Given the description of an element on the screen output the (x, y) to click on. 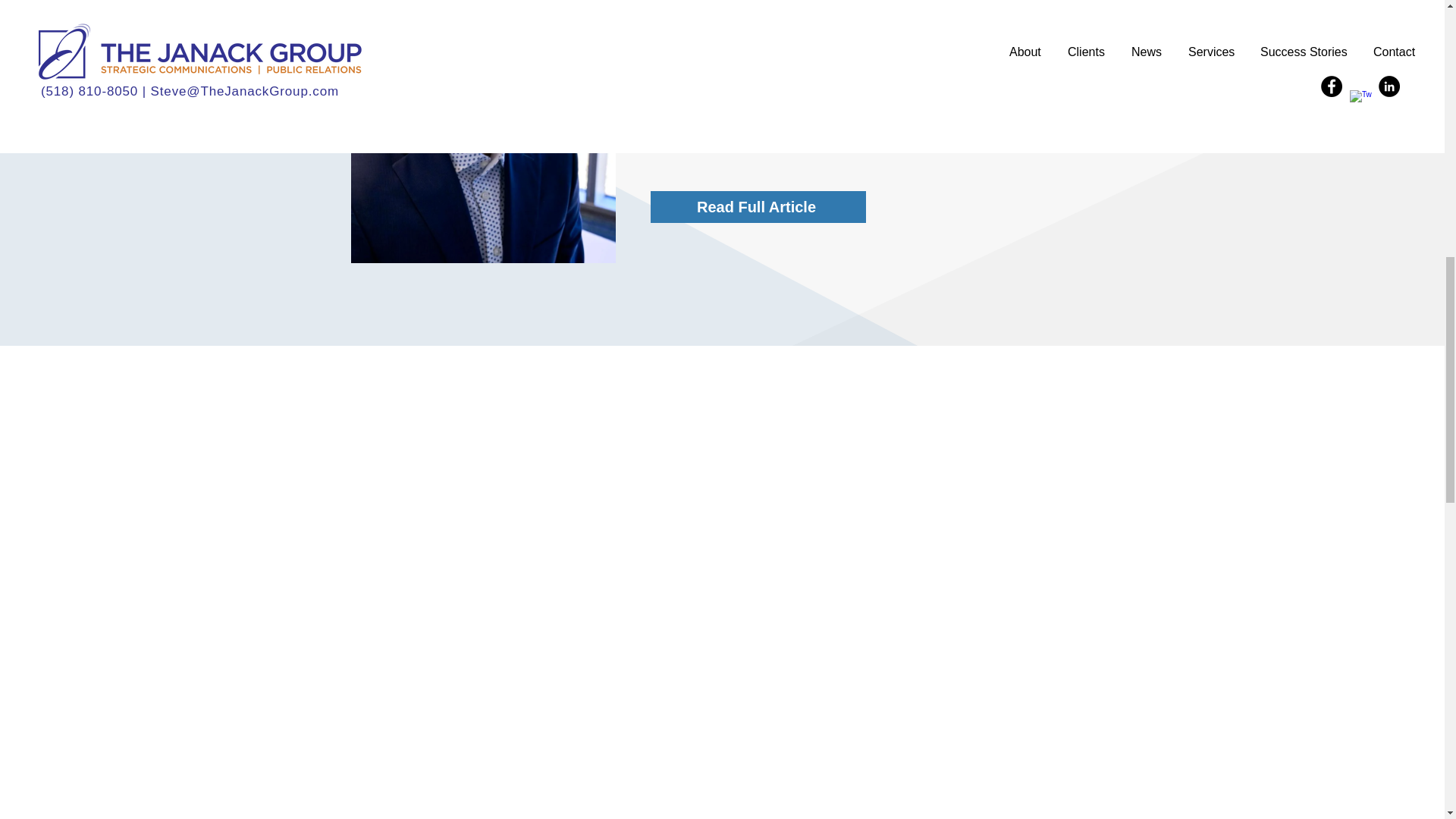
Read Full Article (758, 206)
